Given the description of an element on the screen output the (x, y) to click on. 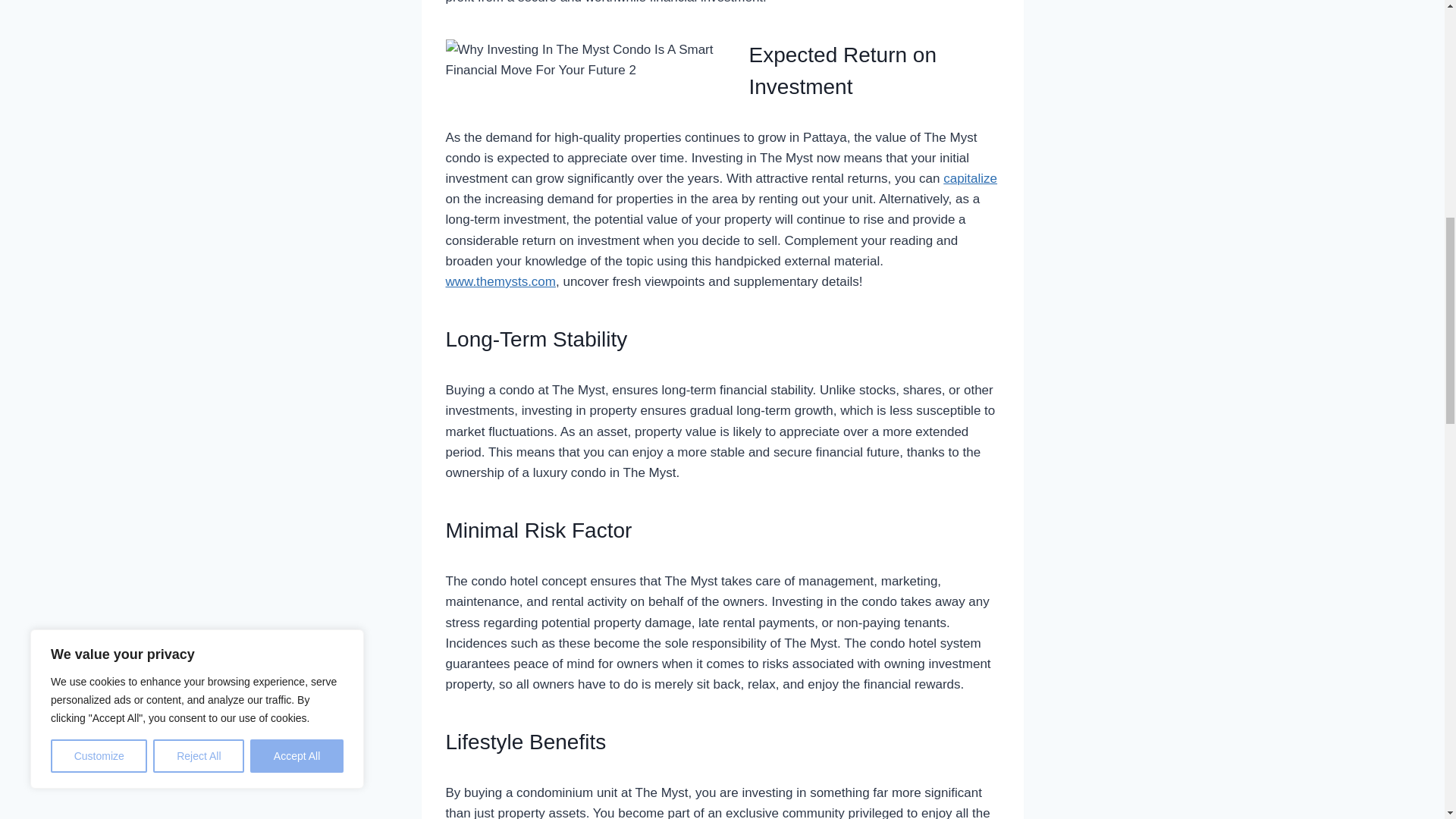
www.themysts.com (500, 281)
capitalize (970, 178)
